Given the description of an element on the screen output the (x, y) to click on. 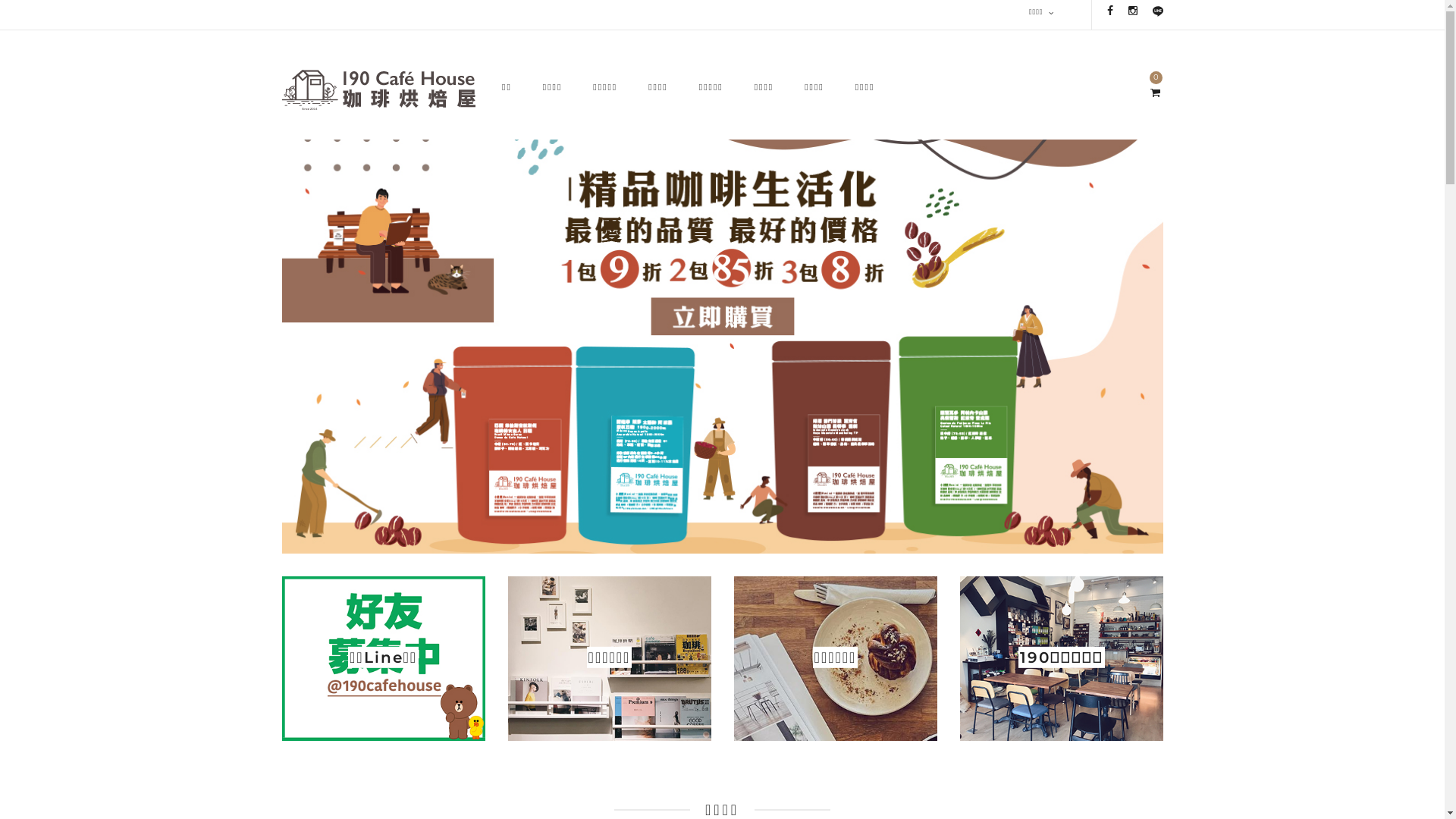
LINE Filled Element type: hover (1157, 11)
0 Element type: text (1154, 92)
